Given the description of an element on the screen output the (x, y) to click on. 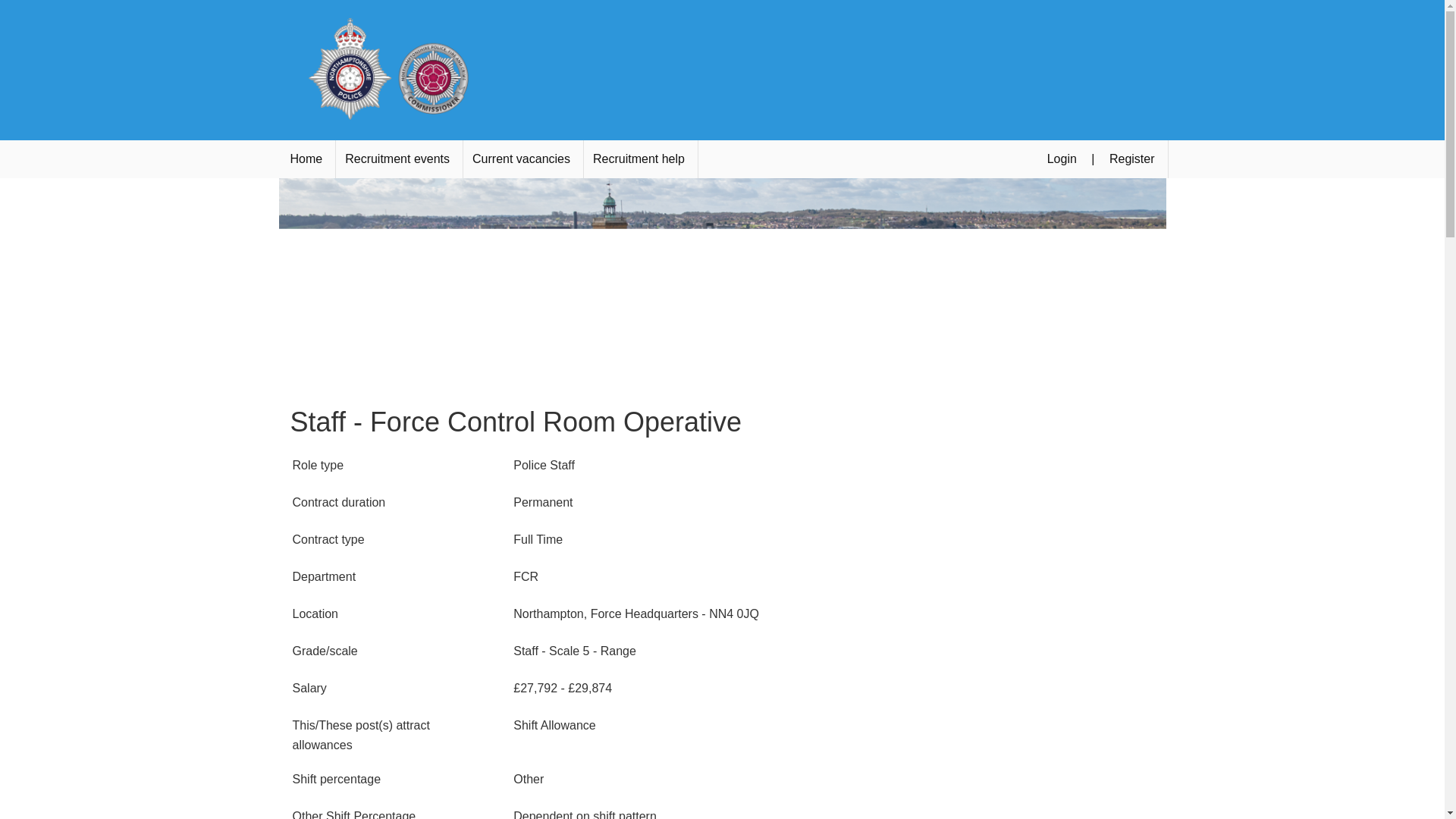
Login (1061, 159)
Recruitment help (637, 159)
Home (306, 159)
Recruitment events (397, 159)
Register (1131, 159)
Current vacancies (520, 159)
